Given the description of an element on the screen output the (x, y) to click on. 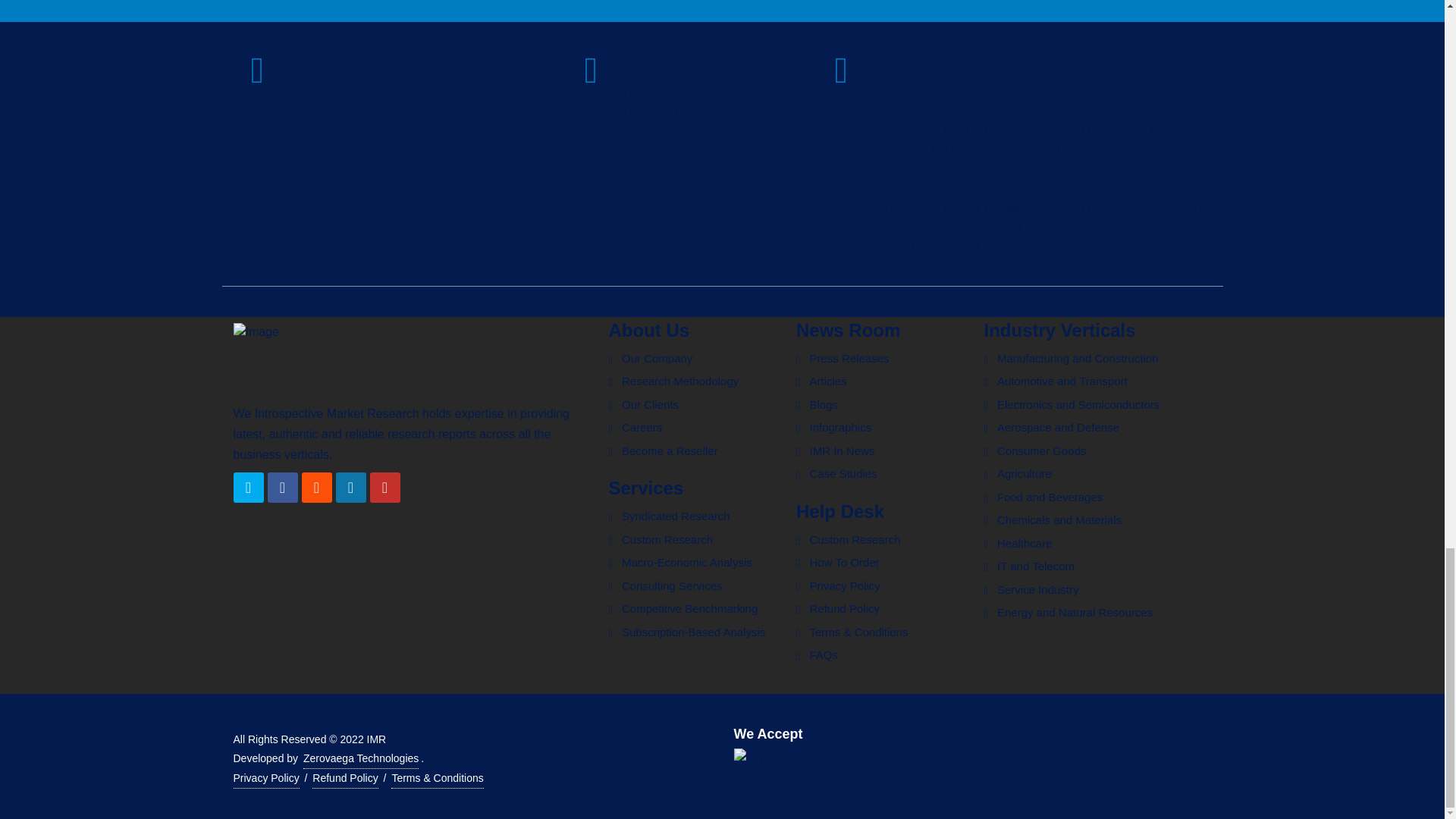
Twitter (247, 487)
Youtube (384, 487)
Linked In (349, 487)
Blogger (316, 487)
Facebook (281, 487)
